Given the description of an element on the screen output the (x, y) to click on. 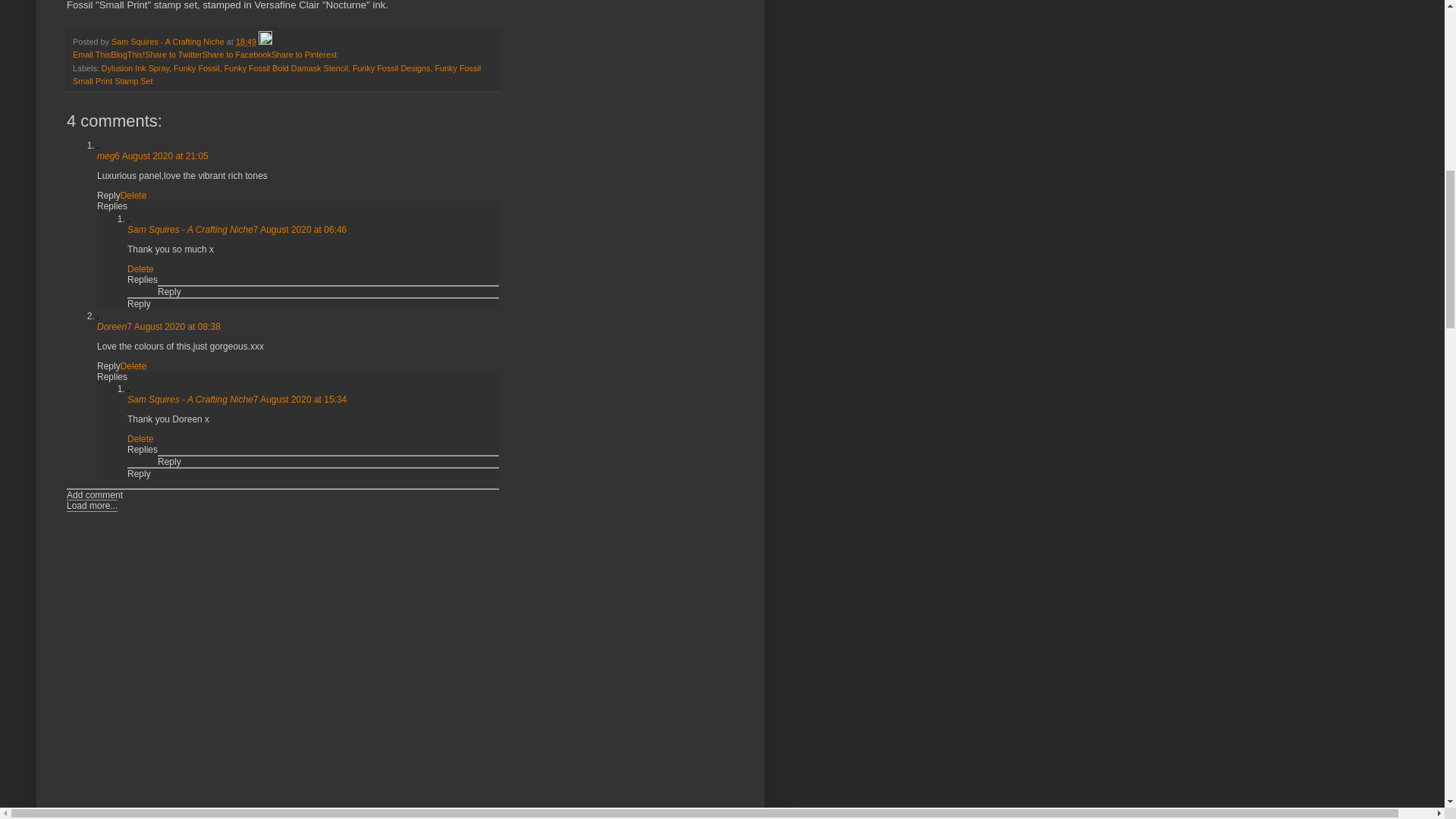
Share to Facebook (236, 53)
Share to Facebook (236, 53)
permanent link (245, 40)
Reply (168, 461)
Funky Fossil Designs (391, 67)
7 August 2020 at 06:46 (299, 229)
Funky Fossil Small Print Stamp Set (276, 74)
Reply (139, 303)
7 August 2020 at 15:34 (299, 398)
BlogThis! (127, 53)
Funky Fossil (196, 67)
Delete (133, 195)
Replies (112, 376)
Doreen (111, 326)
Sam Squires - A Crafting Niche (169, 40)
